Given the description of an element on the screen output the (x, y) to click on. 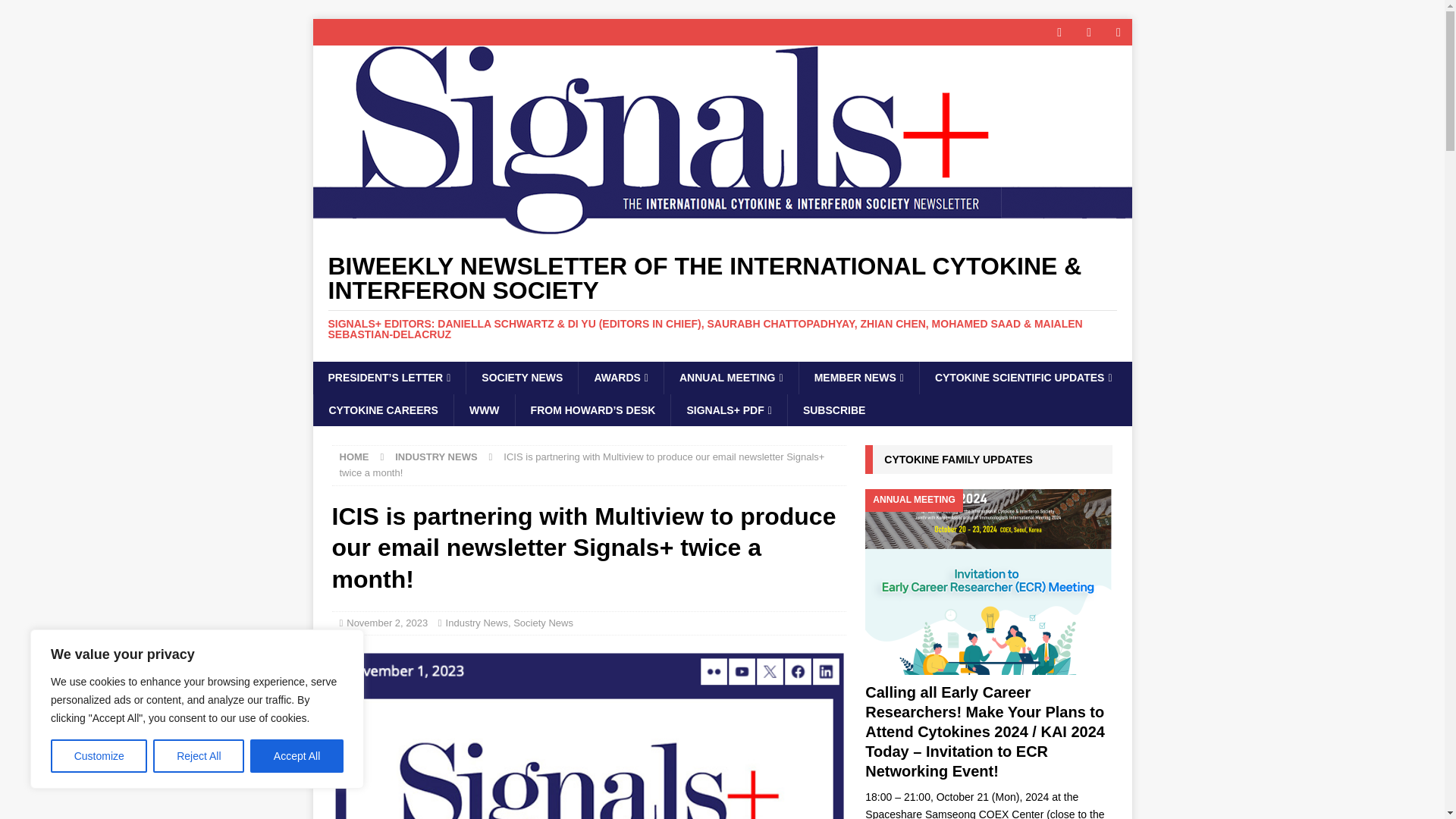
banner (588, 734)
Accept All (296, 756)
Customize (98, 756)
Reject All (198, 756)
